Given the description of an element on the screen output the (x, y) to click on. 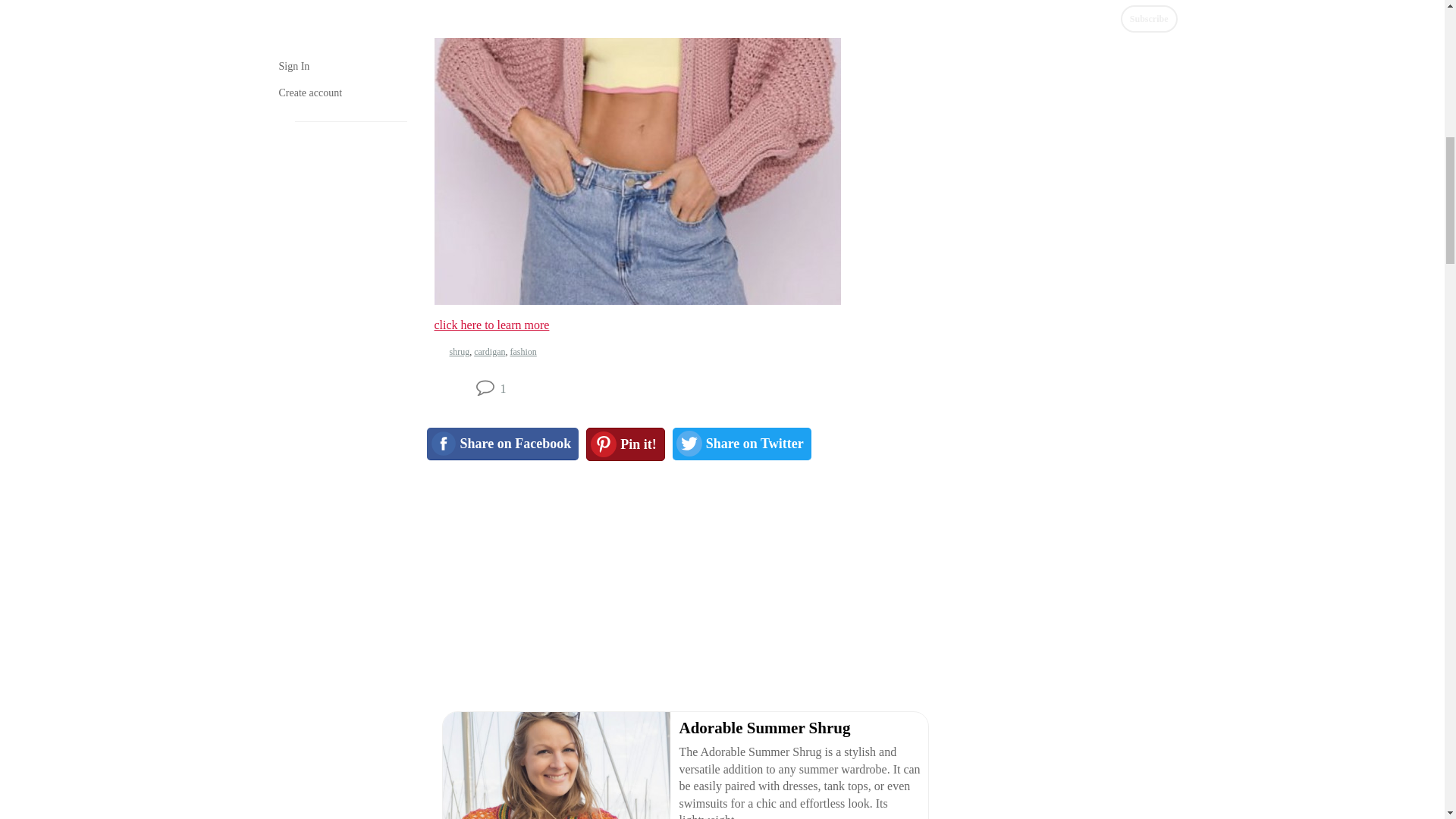
click here to learn more (490, 324)
shrug (458, 351)
Share on Facebook (502, 443)
cardigan (489, 351)
Share on Twitter (741, 443)
fashion (522, 351)
Pin it! (625, 444)
